Given the description of an element on the screen output the (x, y) to click on. 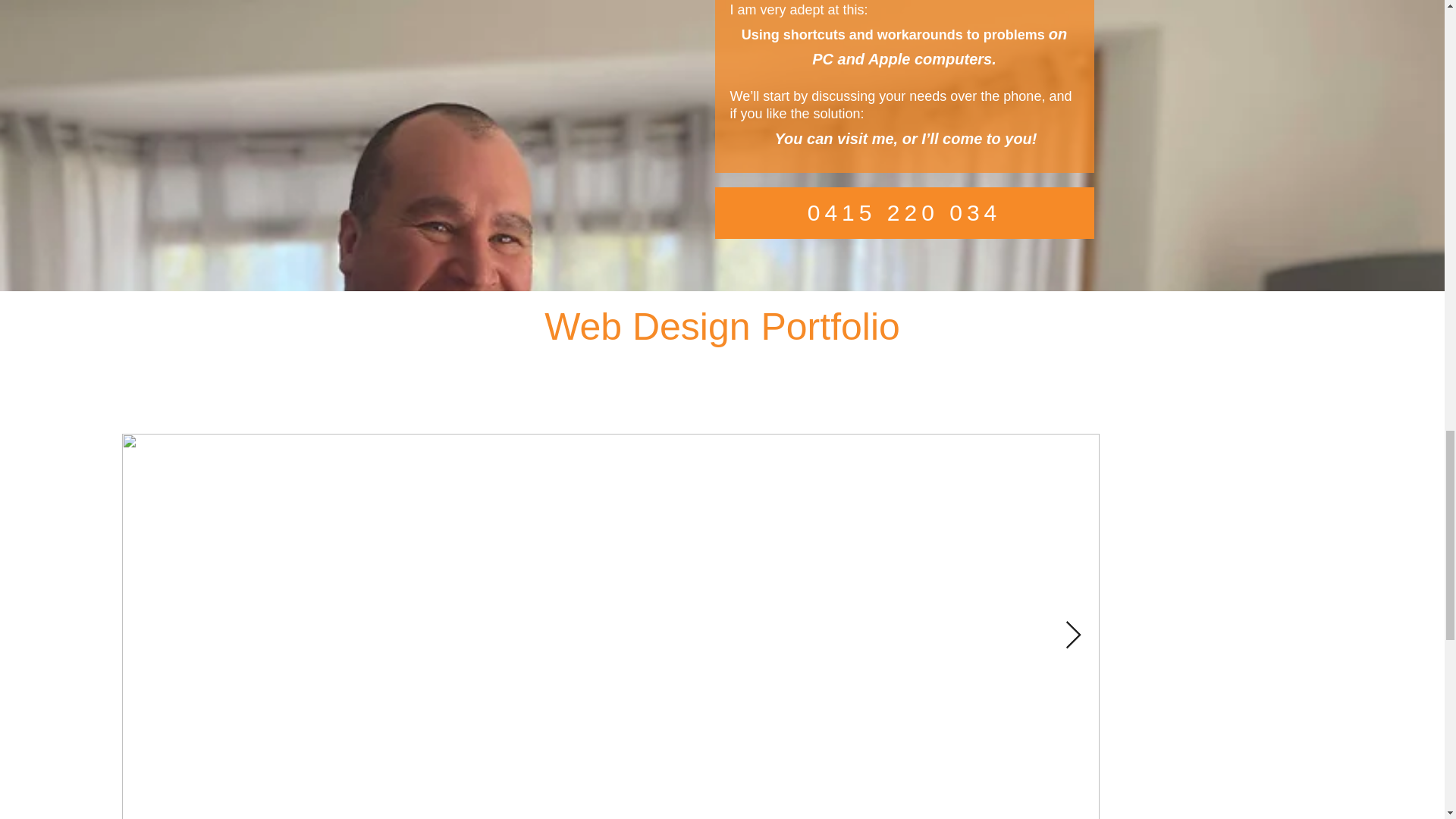
0415 220 034 (903, 213)
